Given the description of an element on the screen output the (x, y) to click on. 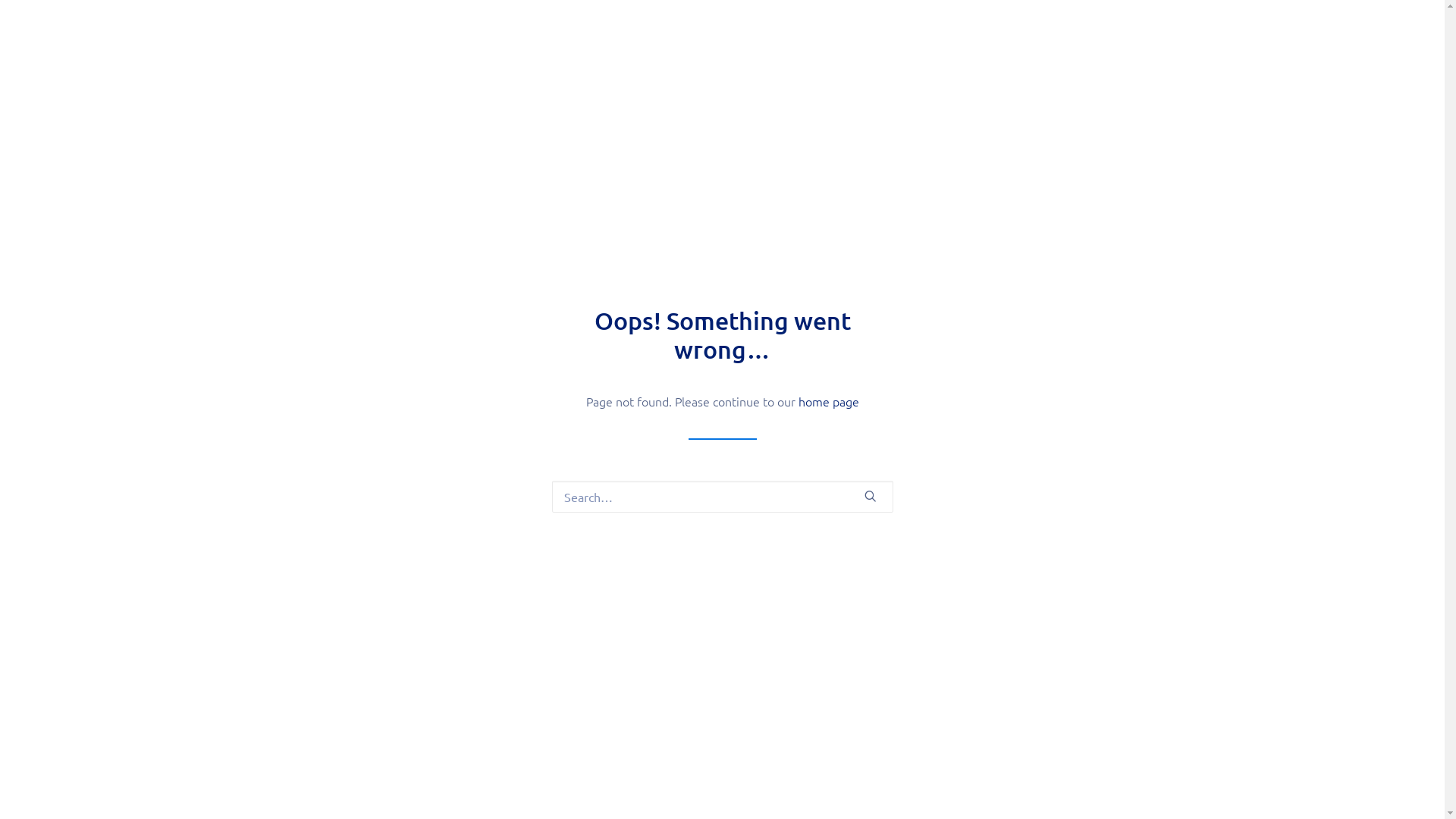
home page Element type: text (827, 400)
Search for: Element type: hover (722, 496)
